Given the description of an element on the screen output the (x, y) to click on. 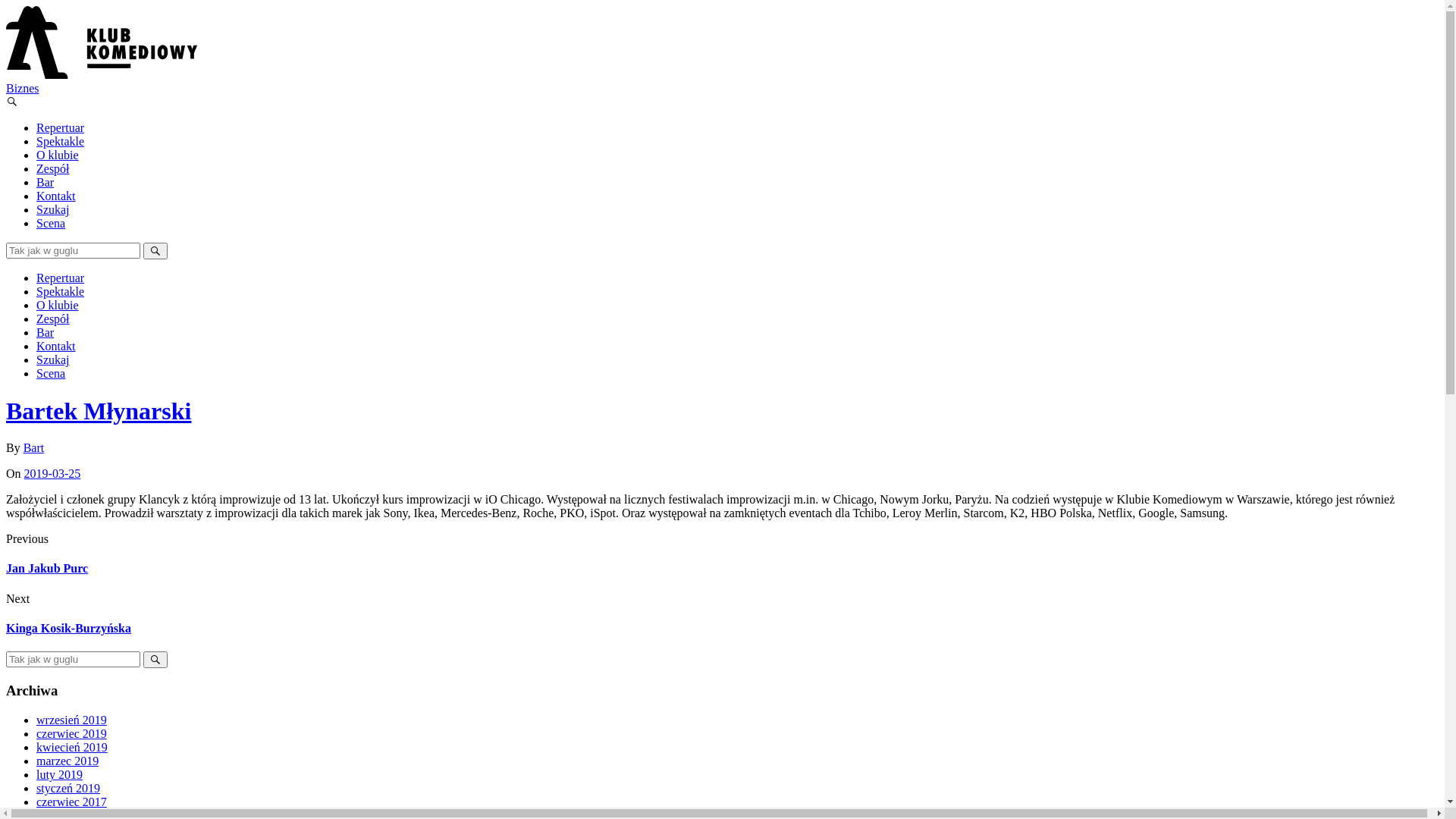
O klubie Element type: text (57, 304)
Spektakle Element type: text (60, 140)
luty 2019 Element type: text (59, 774)
Bart Element type: text (33, 447)
Kontakt Element type: text (55, 195)
szukaj Element type: hover (73, 659)
O klubie Element type: text (57, 154)
Scena Element type: text (50, 373)
Repertuar Element type: text (60, 127)
Repertuar Element type: text (60, 277)
Scena Element type: text (50, 222)
Bar Element type: text (44, 181)
2019-03-25 Element type: text (52, 473)
Szukaj Element type: text (52, 209)
marzec 2019 Element type: text (67, 760)
Szukaj Element type: text (52, 359)
Spektakle Element type: text (60, 291)
czerwiec 2017 Element type: text (71, 801)
szukaj Element type: hover (73, 250)
Jan Jakub Purc Element type: text (46, 567)
Kontakt Element type: text (55, 345)
Biznes Element type: text (22, 87)
Klub Komediowy Element type: hover (101, 74)
Bar Element type: text (44, 332)
czerwiec 2019 Element type: text (71, 733)
